Given the description of an element on the screen output the (x, y) to click on. 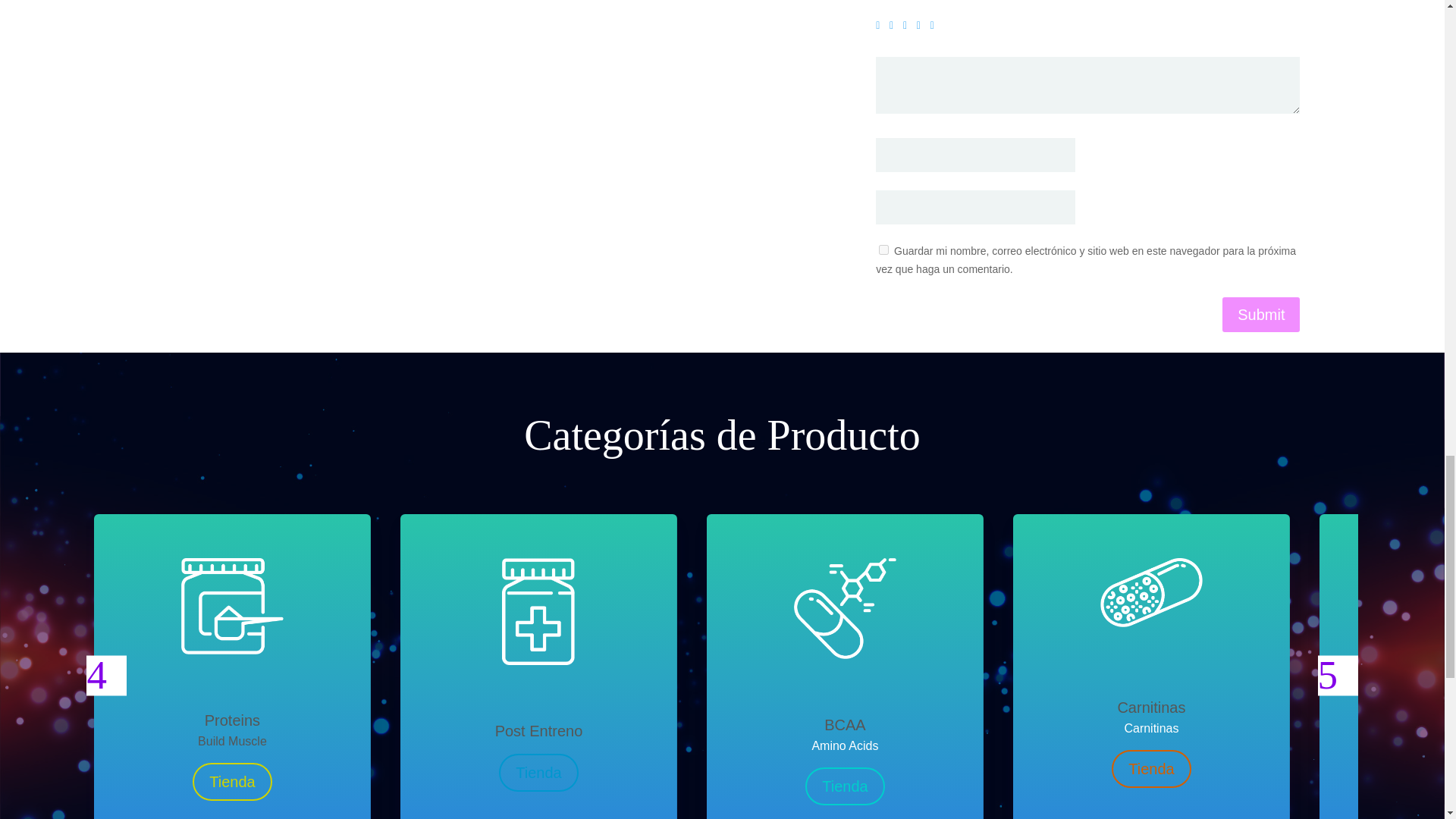
3 (908, 25)
Submit (1261, 314)
5 (935, 25)
yes (883, 249)
1 (881, 25)
2 (894, 25)
4 (922, 25)
